Given the description of an element on the screen output the (x, y) to click on. 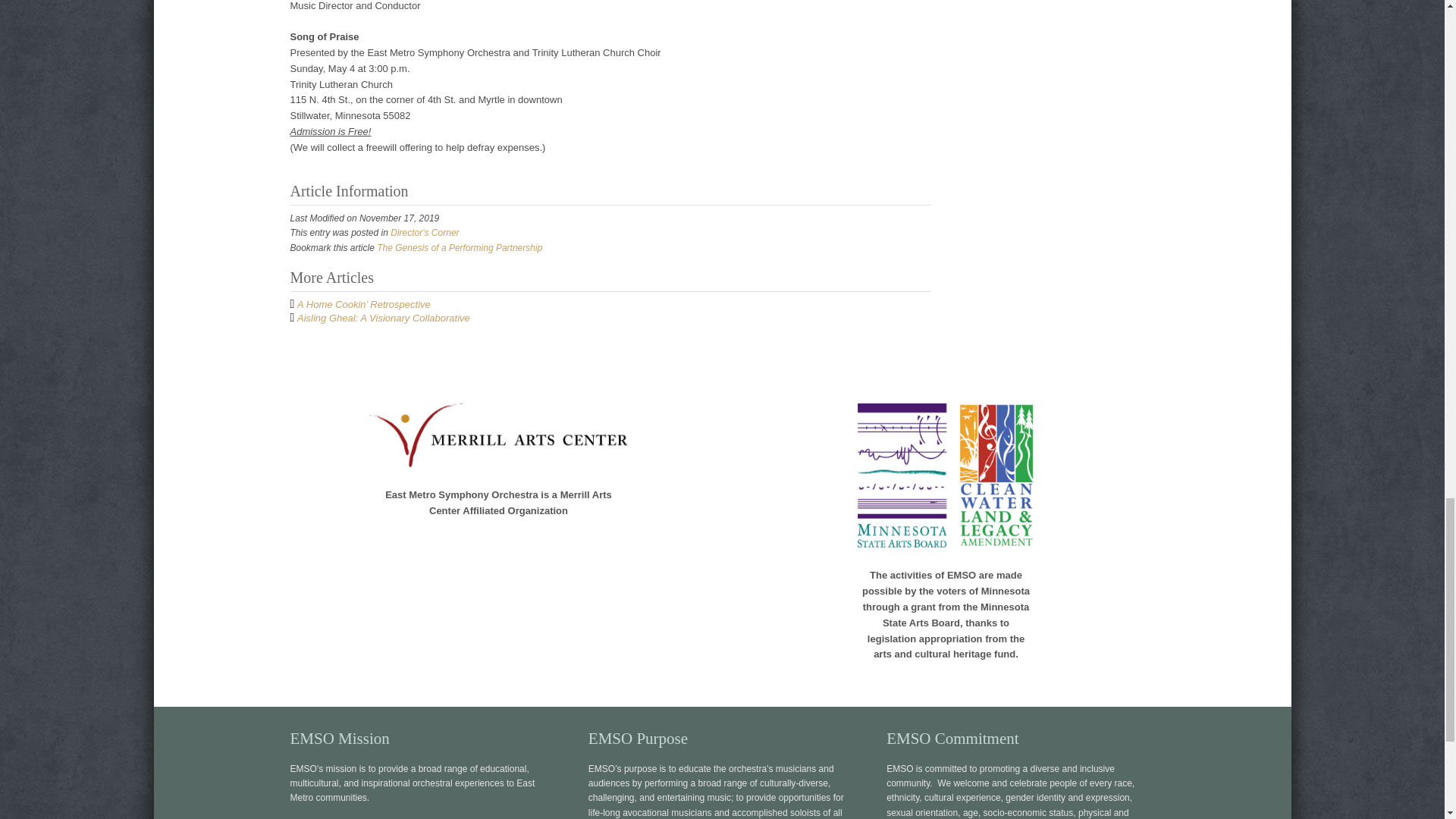
Director's Corner (424, 232)
The Genesis of a Performing Partnership (459, 247)
Aisling Gheal: A Visionary Collaborative (383, 317)
